Given the description of an element on the screen output the (x, y) to click on. 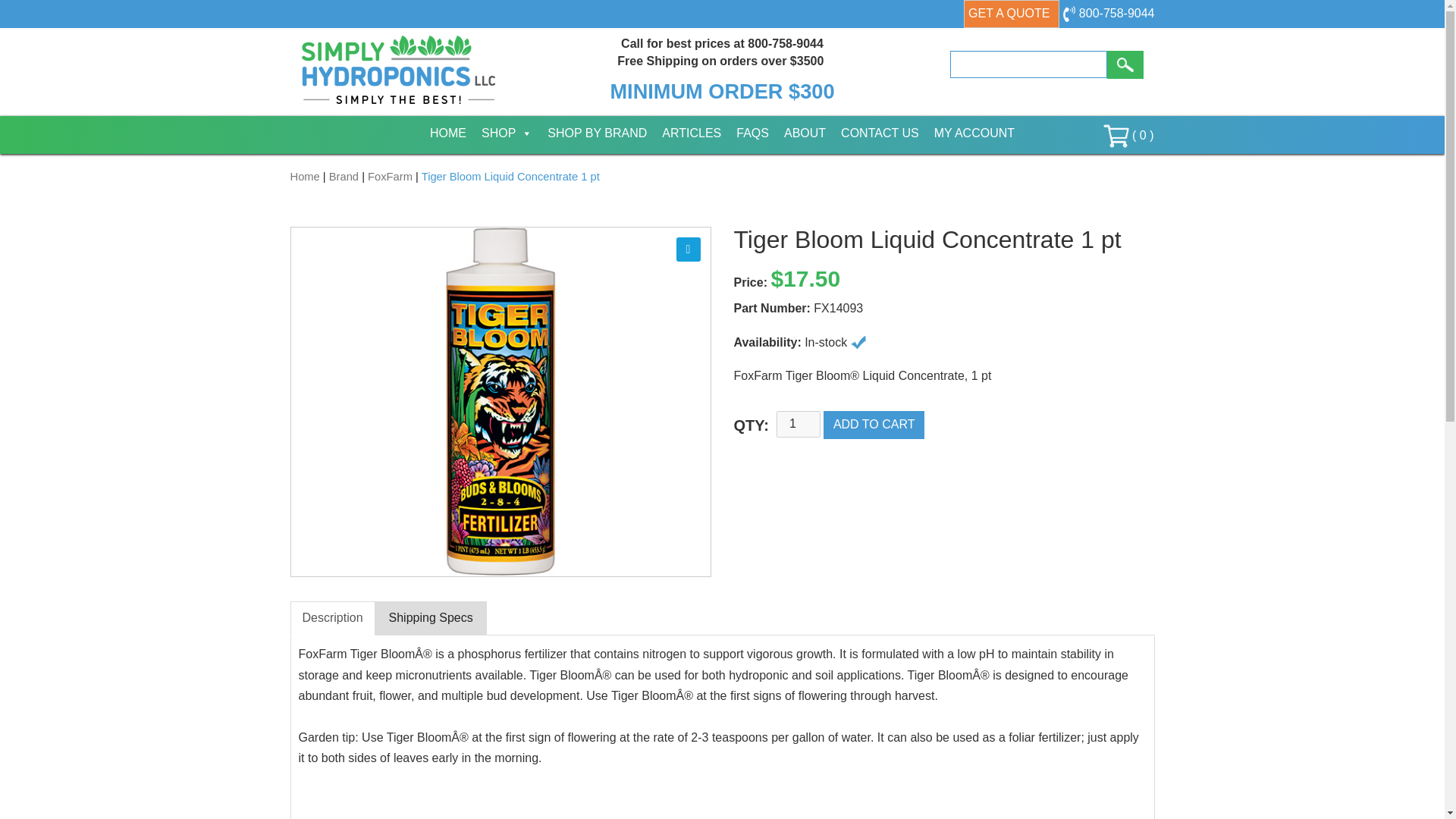
SHOP (507, 133)
GET A QUOTE (1011, 13)
800-758-9044 (1106, 12)
1 (798, 424)
HOME (448, 133)
